Given the description of an element on the screen output the (x, y) to click on. 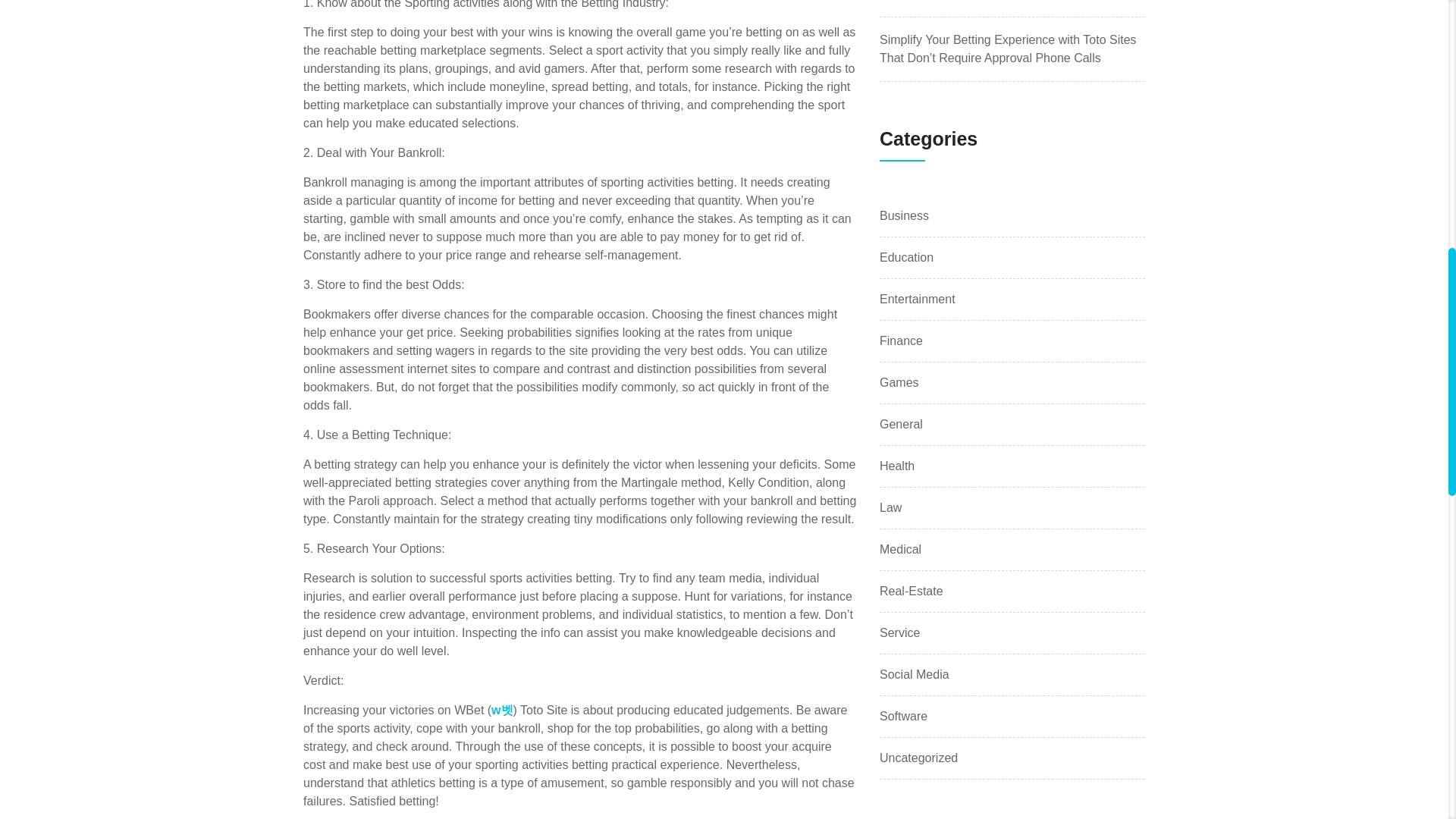
Software (903, 716)
Business (903, 216)
Health (896, 466)
Entertainment (917, 299)
Social Media (914, 674)
Finance (901, 341)
Medical (900, 549)
Education (906, 257)
Games (898, 382)
Service (899, 633)
